Given the description of an element on the screen output the (x, y) to click on. 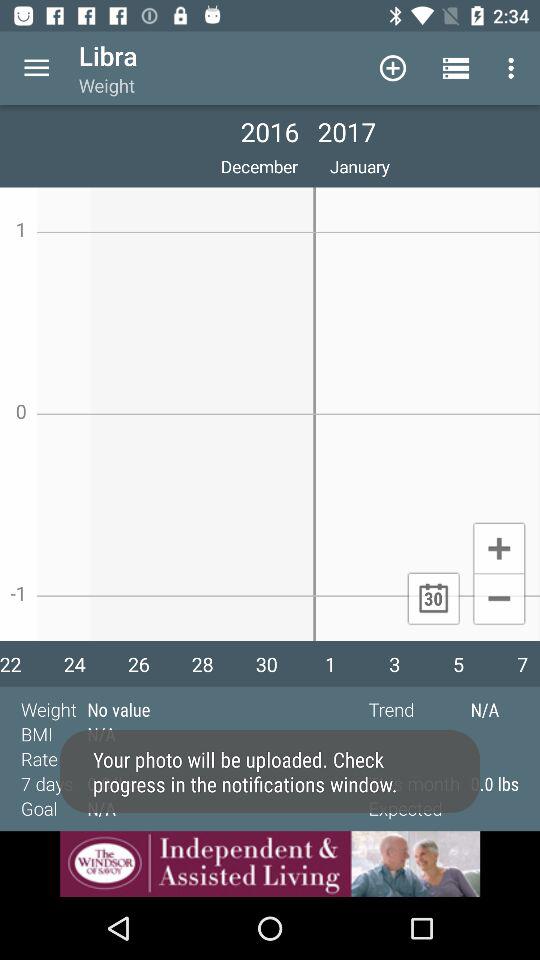
zoom out (498, 599)
